Given the description of an element on the screen output the (x, y) to click on. 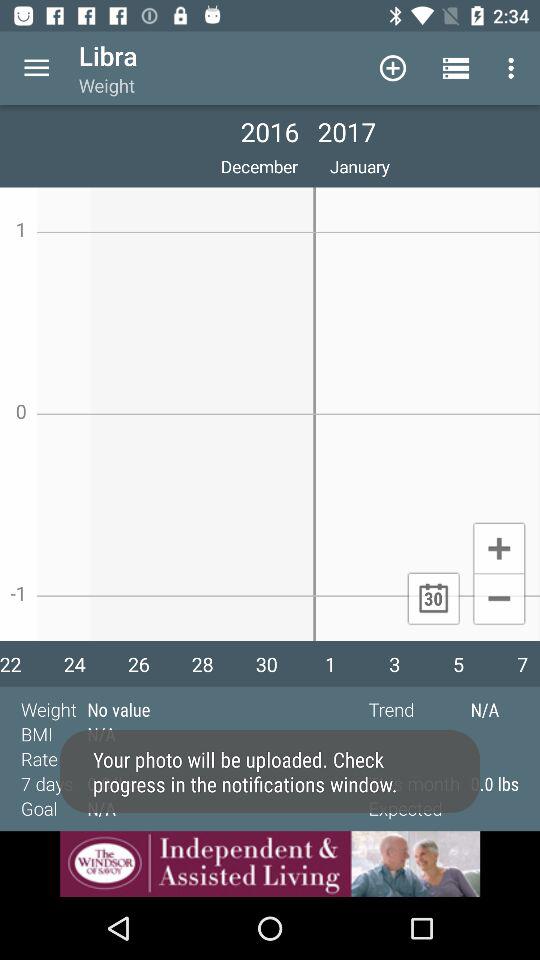
zoom out (498, 599)
